Given the description of an element on the screen output the (x, y) to click on. 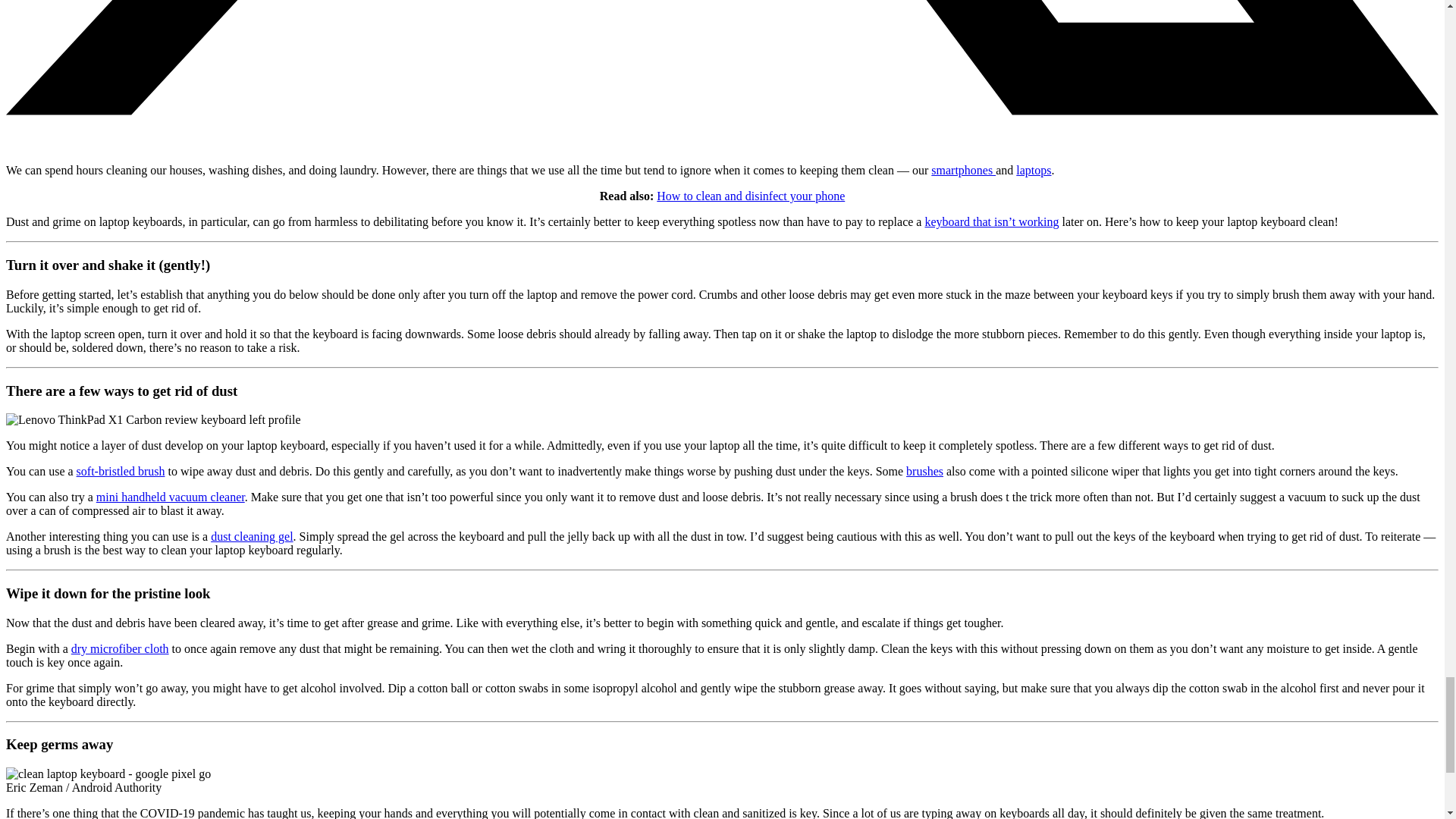
brushes (924, 471)
Lenovo ThinkPad X1 Carbon review keyboard left profile (153, 419)
dry microfiber cloth (119, 648)
smartphones (963, 169)
How to clean and disinfect your phone (750, 195)
laptops (1033, 169)
mini handheld vacuum cleaner (170, 496)
Google Pixelbook Go Review the keyboard (108, 774)
soft-bristled brush (121, 471)
dust cleaning gel (251, 535)
